Given the description of an element on the screen output the (x, y) to click on. 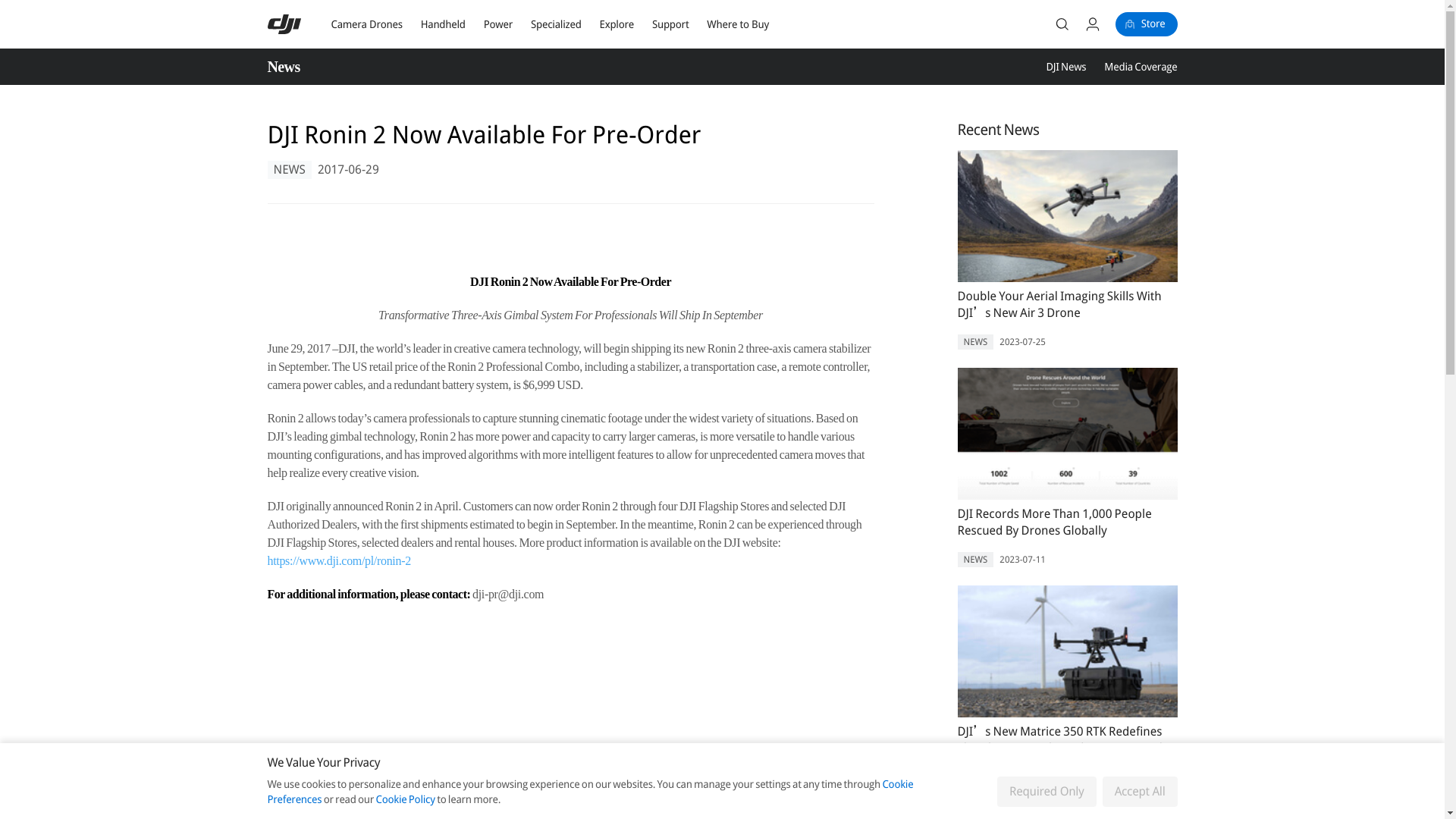
NEWS (974, 559)
Where to Buy (737, 24)
Media Coverage (1139, 66)
NEWS (288, 169)
DJI News (1065, 66)
Camera Drones (365, 24)
Handheld (442, 24)
NEWS (974, 793)
Store (1146, 24)
News (288, 66)
NEWS (974, 341)
